Given the description of an element on the screen output the (x, y) to click on. 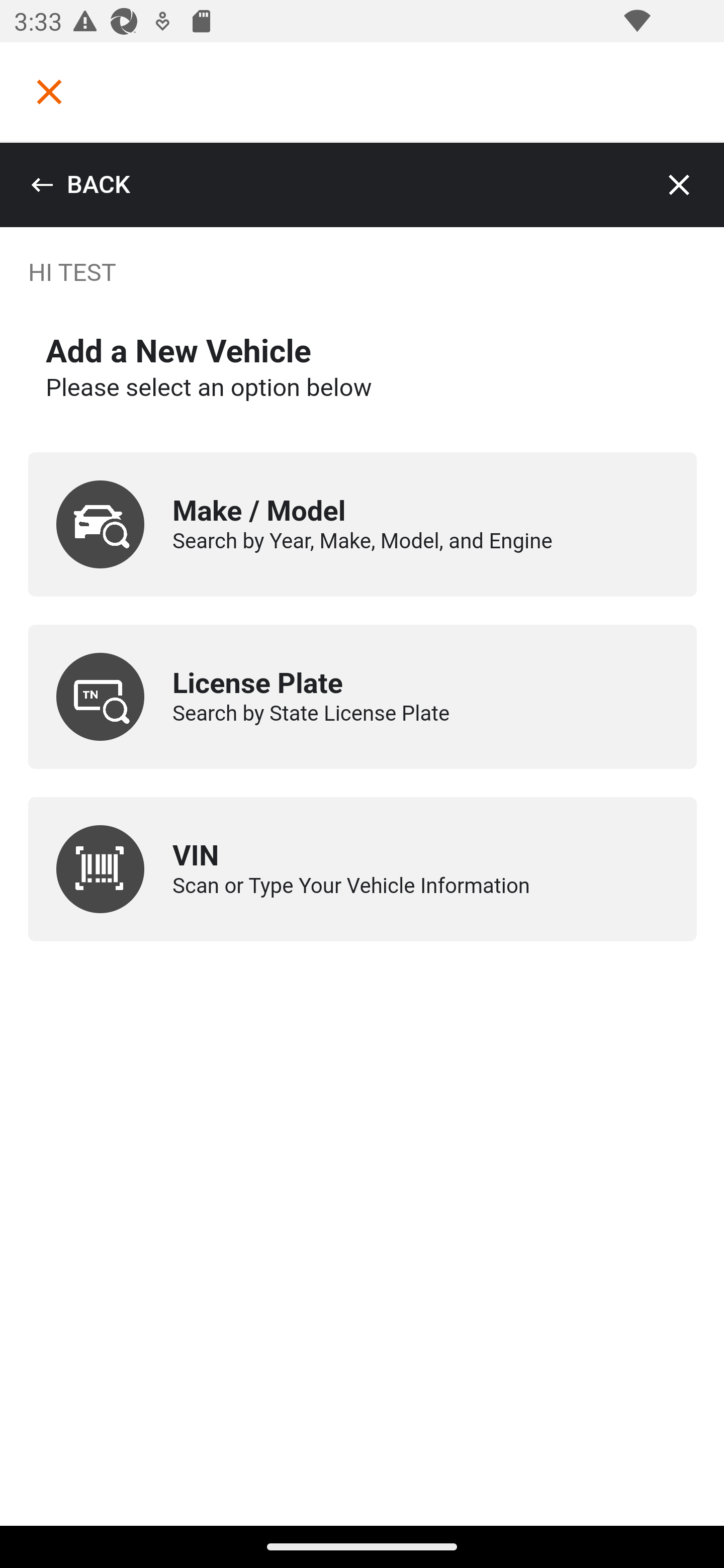
 (49, 91)
